Given the description of an element on the screen output the (x, y) to click on. 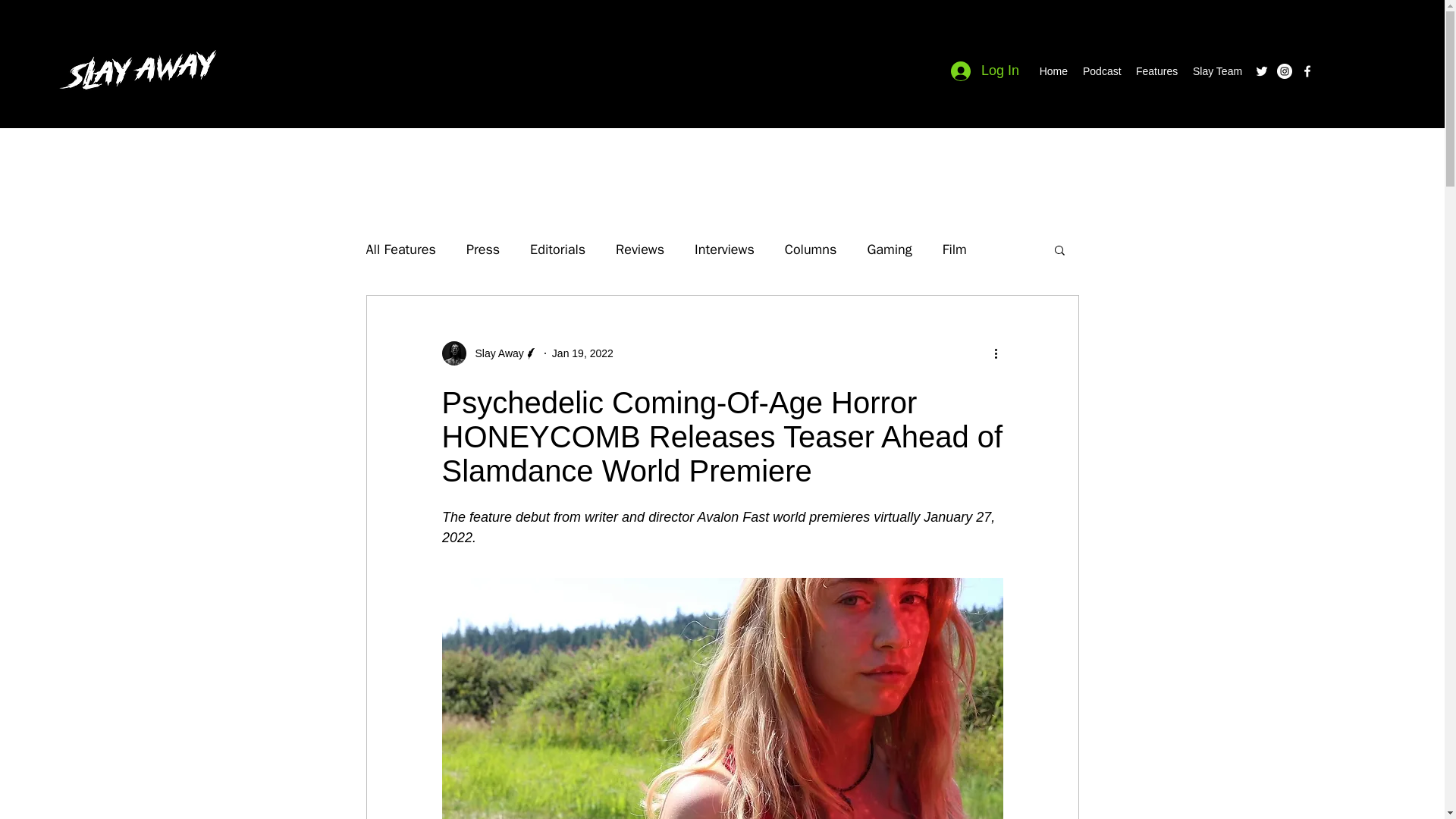
Reviews (639, 249)
Slay Away (489, 353)
Slay Team (1215, 70)
Press (482, 249)
Columns (810, 249)
All Features (400, 249)
Features (1156, 70)
Podcast (1101, 70)
Gaming (888, 249)
Film (954, 249)
Slay Away (493, 353)
Interviews (724, 249)
Jan 19, 2022 (581, 353)
Editorials (557, 249)
Home (1052, 70)
